Given the description of an element on the screen output the (x, y) to click on. 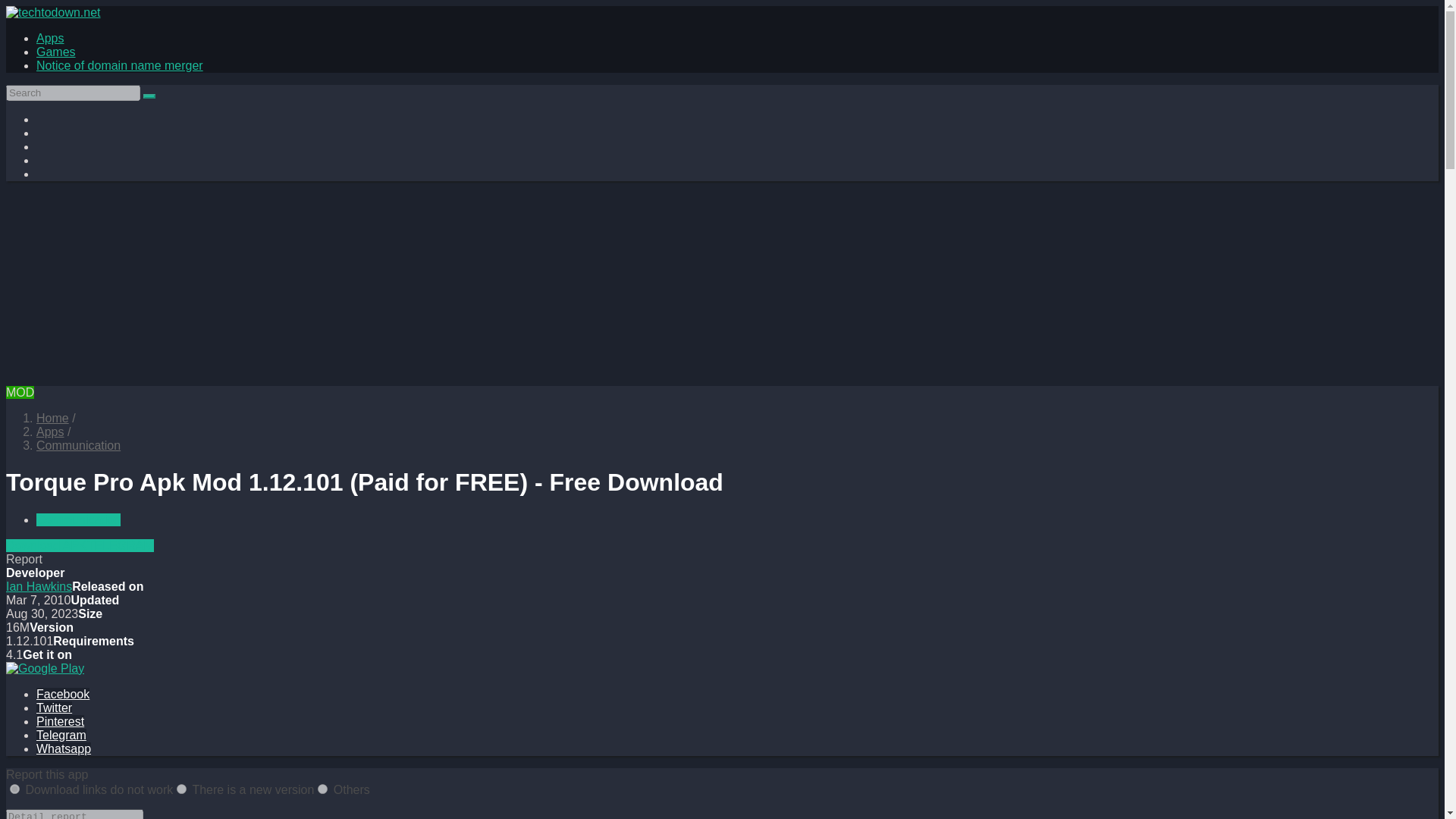
Notice of domain name merger (119, 65)
Pinterest (60, 721)
techtodown.net (52, 418)
3 (322, 788)
Communication (78, 445)
Search (148, 96)
TELEGRAM (120, 545)
Download APK (46, 545)
Download APK (46, 545)
Whatsapp (63, 748)
Apps (50, 38)
1 (15, 788)
Home (52, 418)
Telegram (60, 735)
Facebook (62, 694)
